Given the description of an element on the screen output the (x, y) to click on. 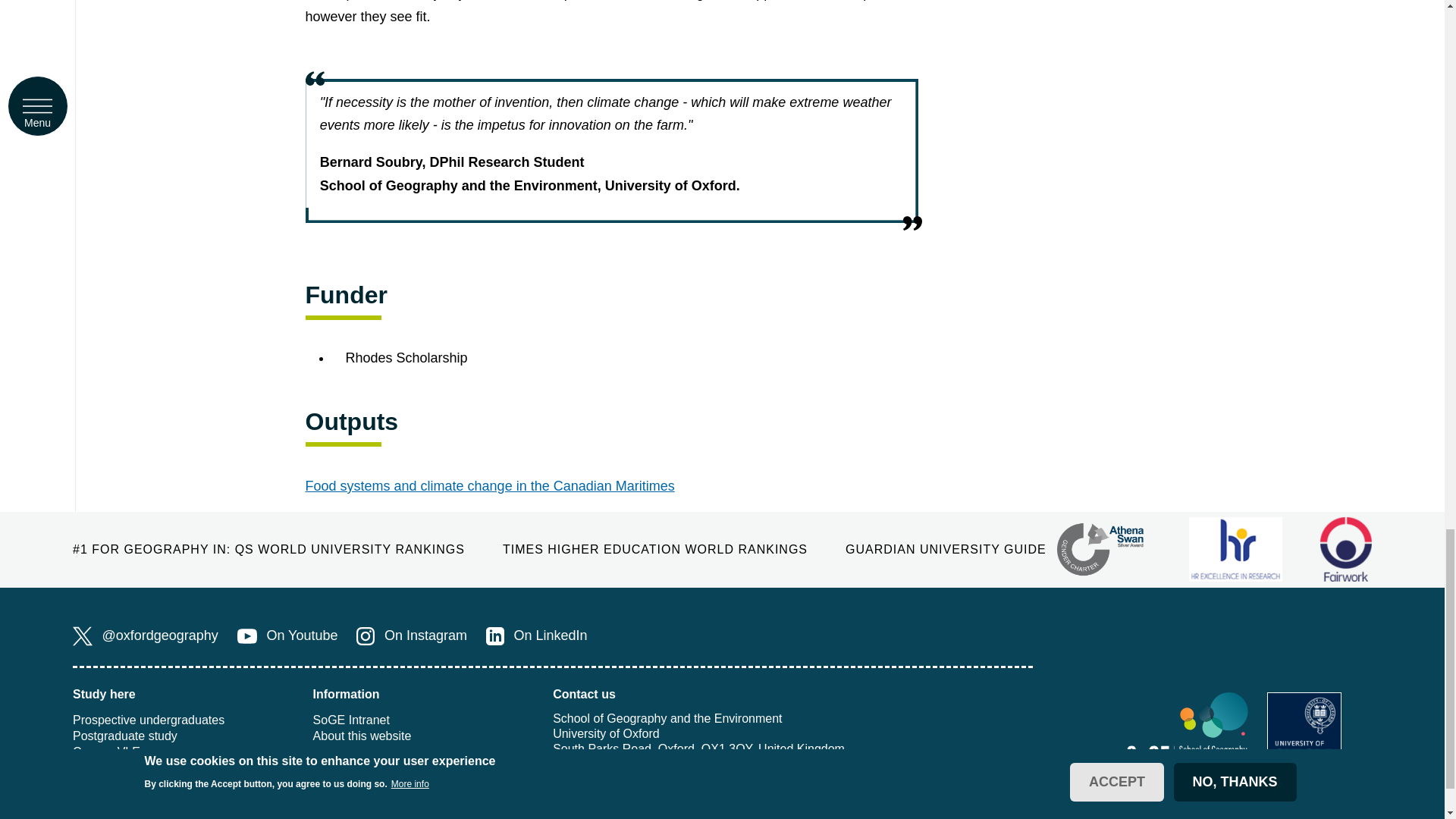
On Youtube (287, 636)
Food systems and climate change in the Canadian Maritimes (489, 485)
GUARDIAN UNIVERSITY GUIDE (945, 549)
TIMES HIGHER EDUCATION WORLD RANKINGS (655, 549)
